Given the description of an element on the screen output the (x, y) to click on. 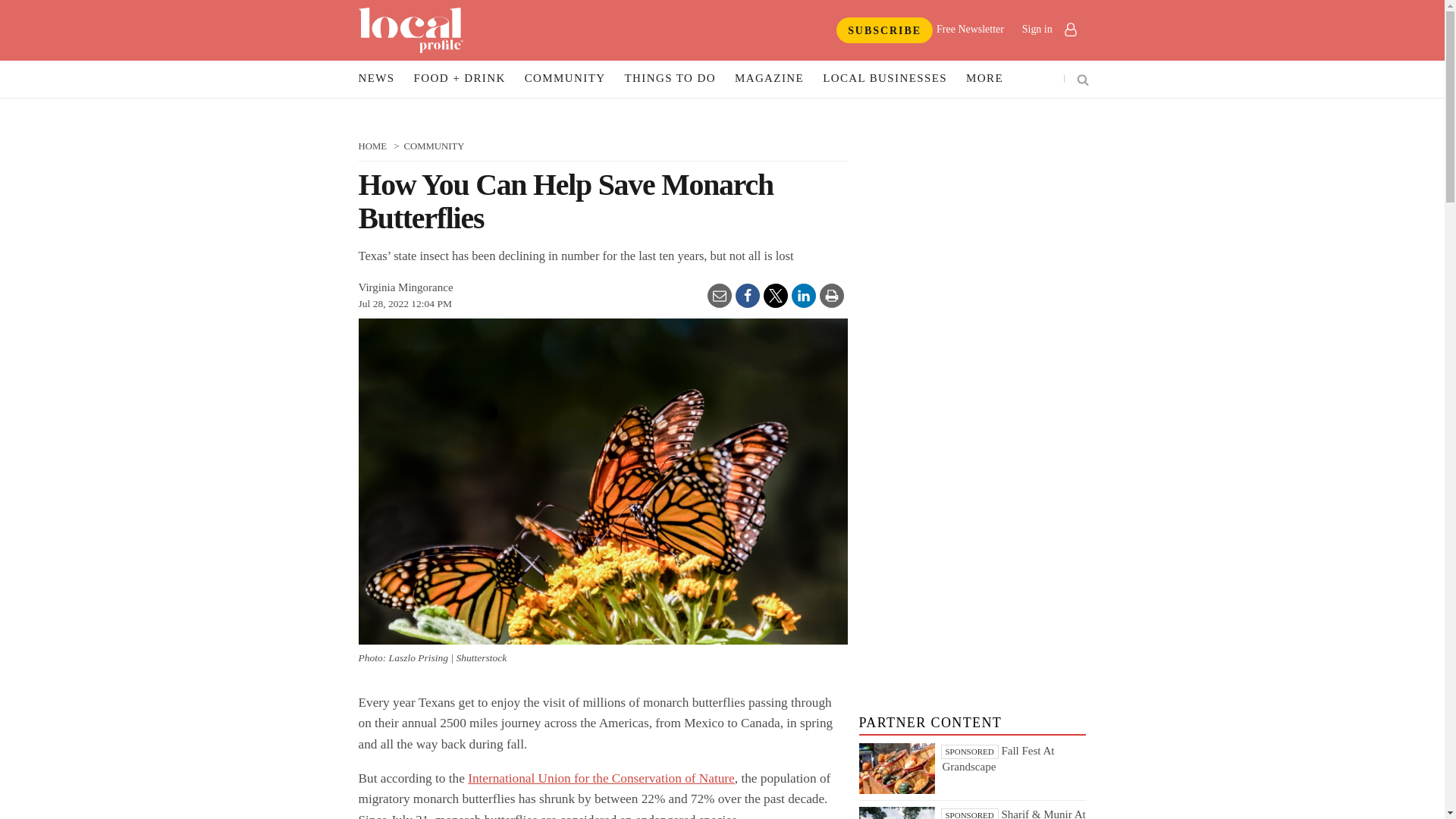
SUBSCRIBE (884, 30)
MAGAZINE (769, 79)
NEWS (376, 79)
Free Newsletter (970, 29)
COMMUNITY (565, 79)
THINGS TO DO (669, 79)
Sign in (1048, 28)
COMMUNITY (433, 145)
3rd party ad content (972, 655)
LOCAL BUSINESSES (884, 79)
